Given the description of an element on the screen output the (x, y) to click on. 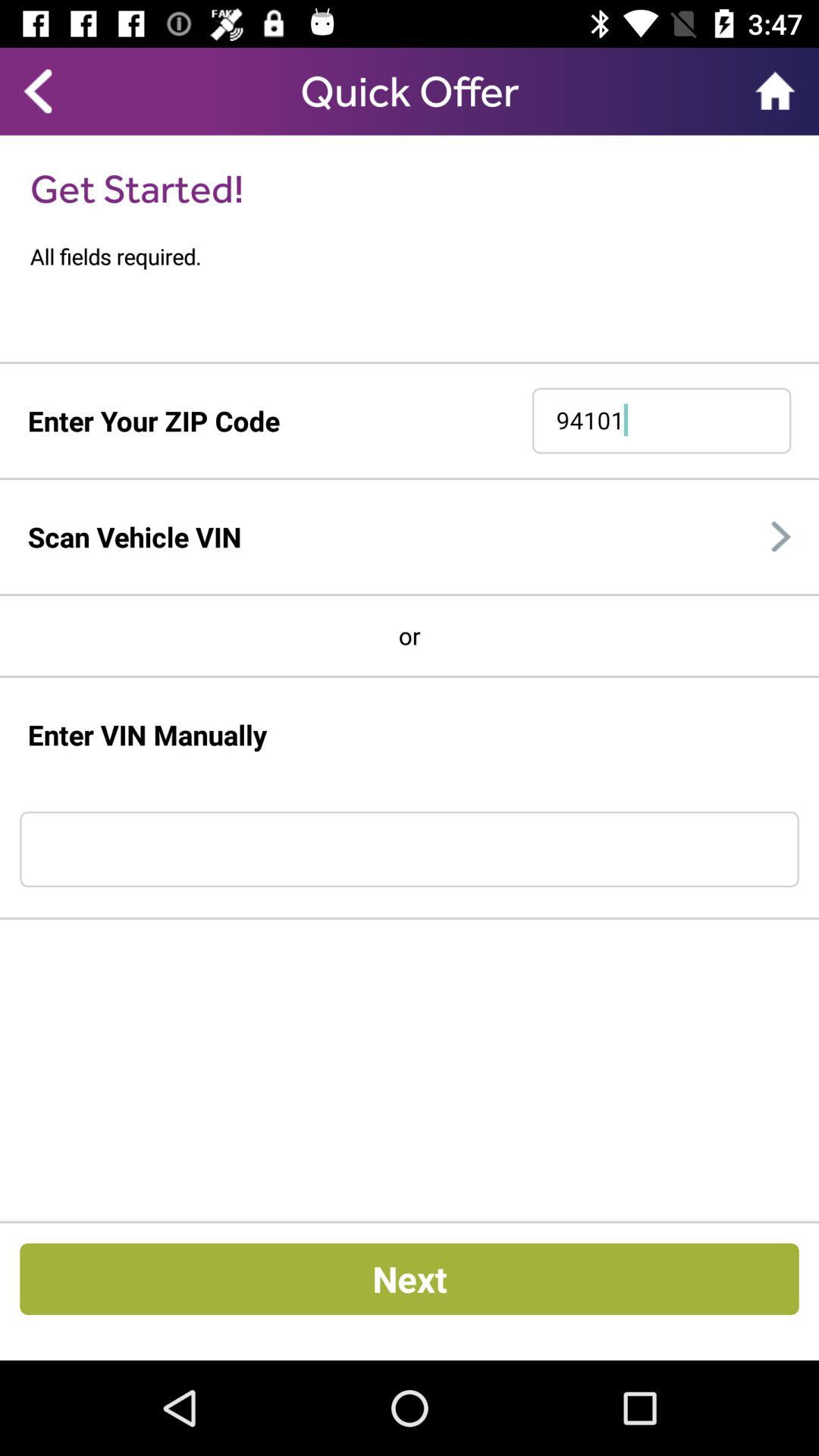
flip to the quick offer icon (409, 90)
